Given the description of an element on the screen output the (x, y) to click on. 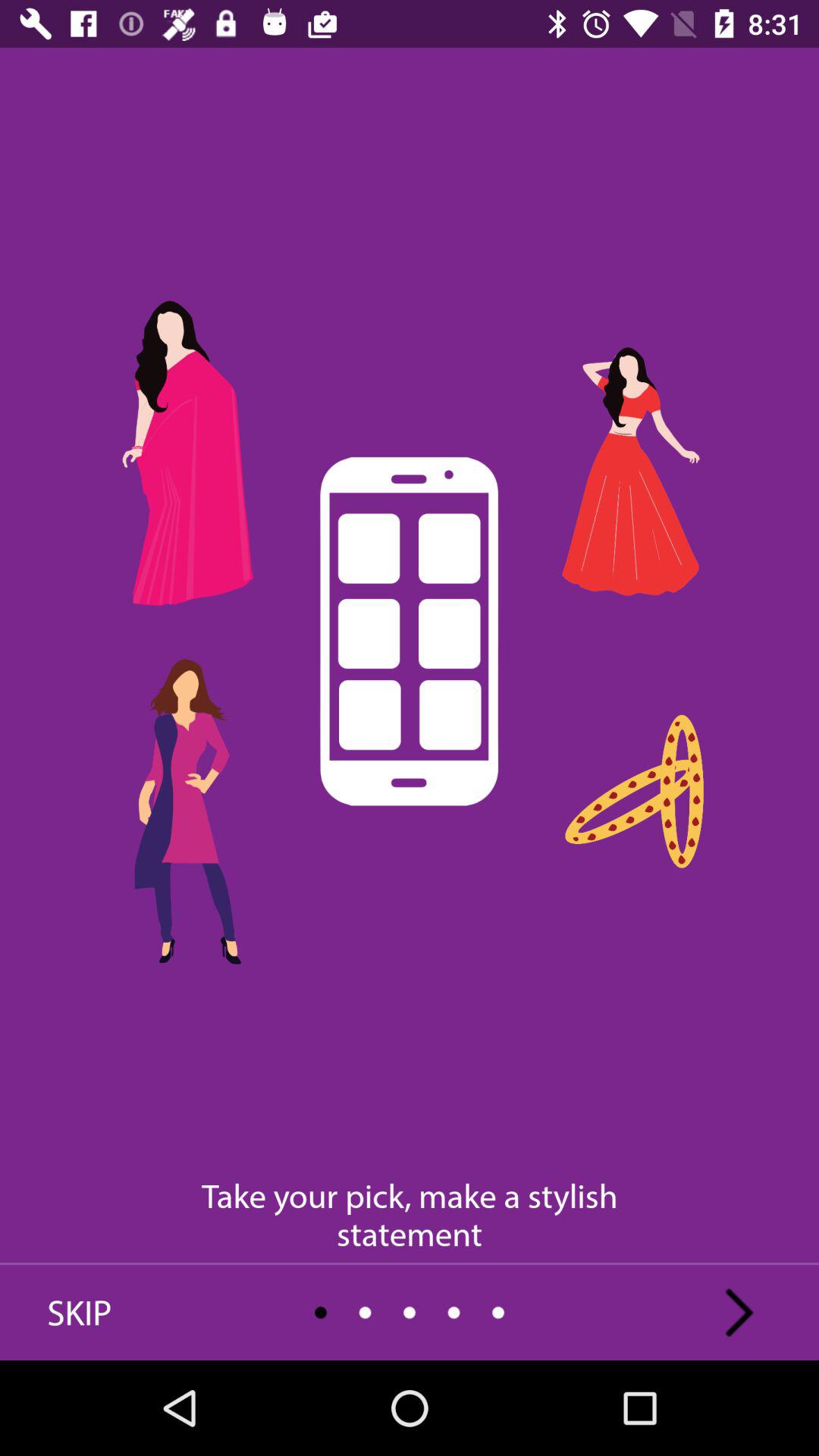
launch the skip item (79, 1312)
